Given the description of an element on the screen output the (x, y) to click on. 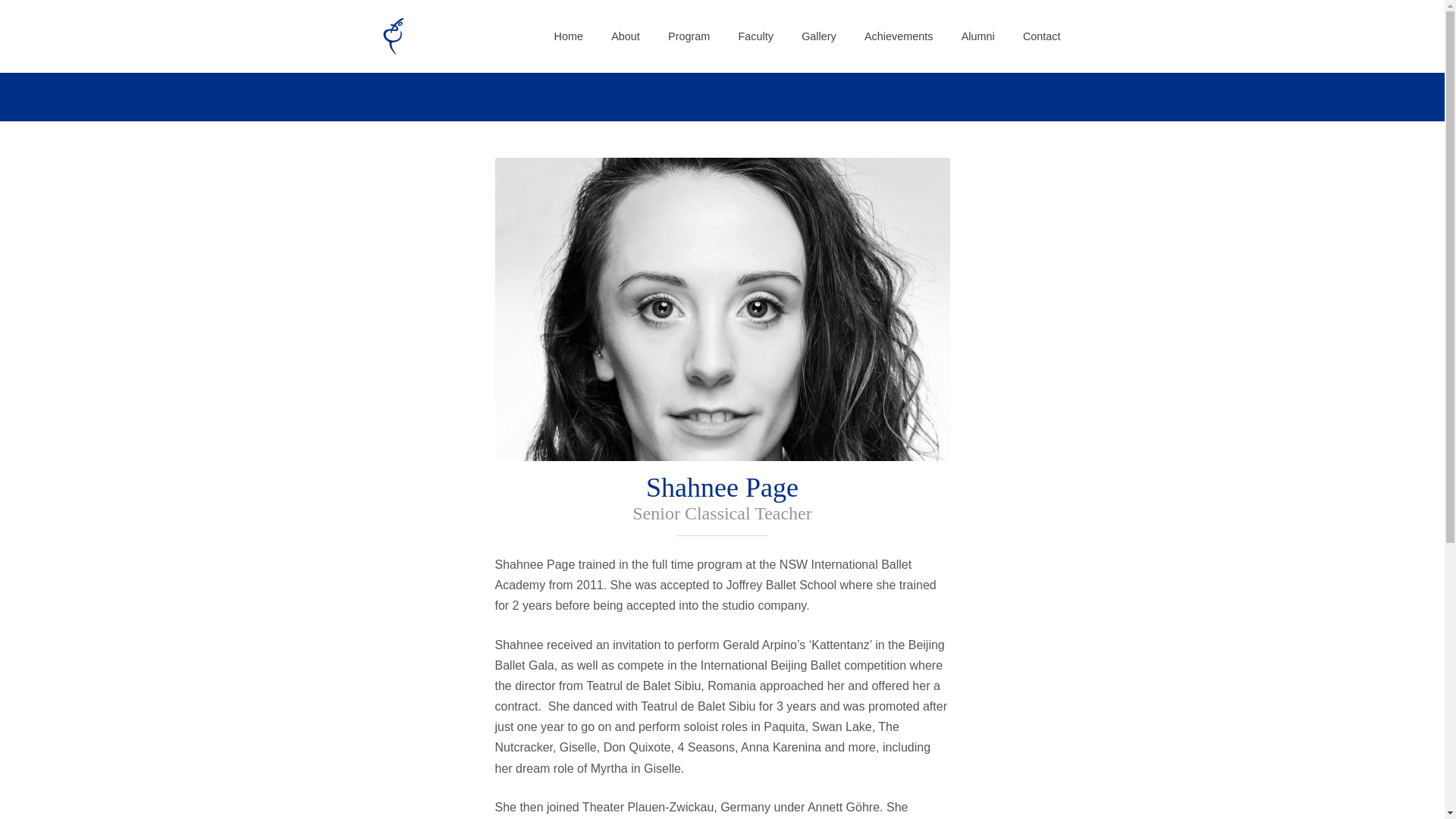
Contact (1042, 36)
Gallery (818, 36)
Home (569, 36)
Faculty (755, 36)
About (626, 36)
Alumni (977, 36)
Program (688, 36)
Achievements (898, 36)
